Given the description of an element on the screen output the (x, y) to click on. 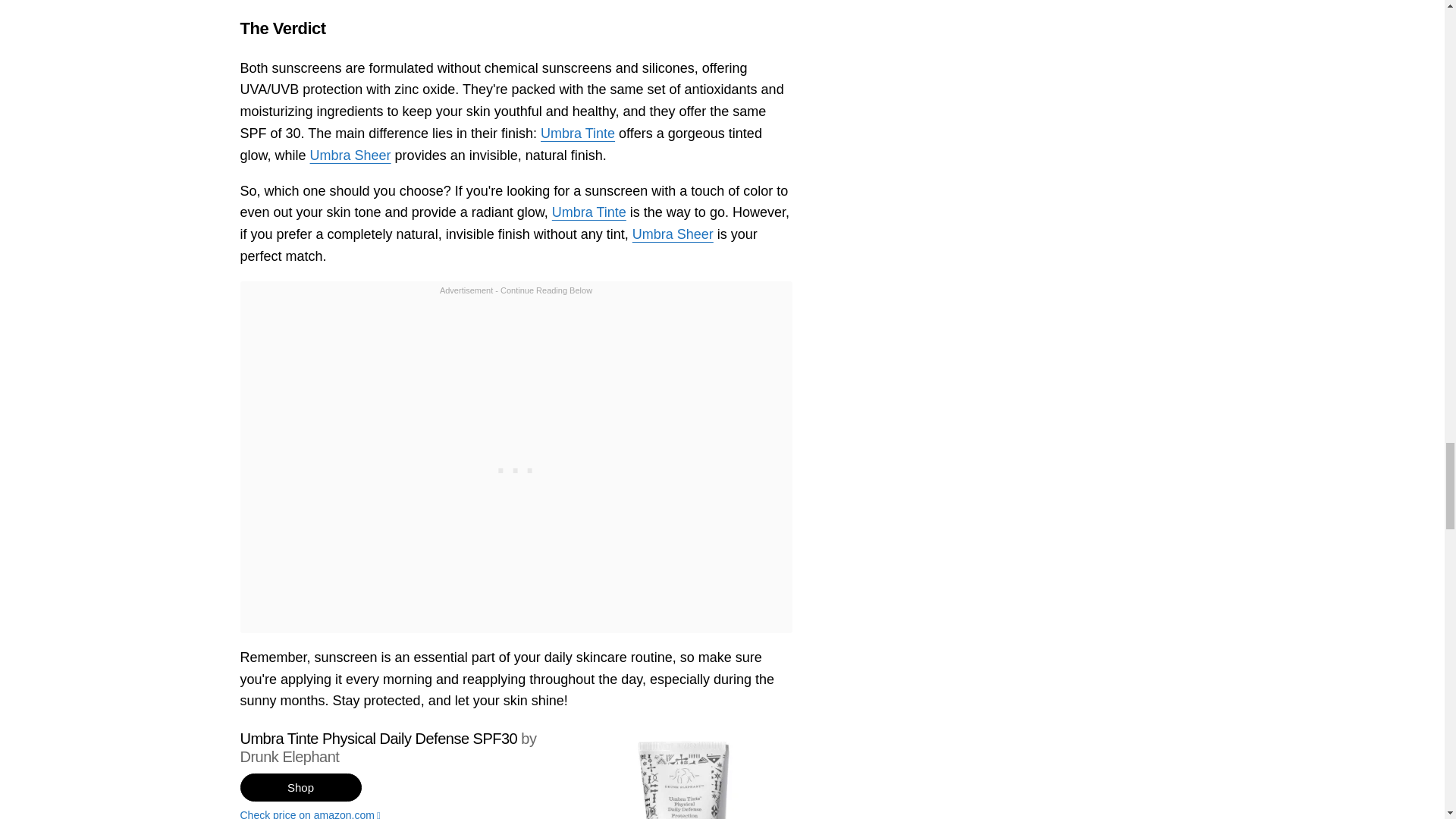
Umbra Tinte (577, 133)
Umbra Sheer (350, 155)
Umbra Tinte (588, 212)
Check price on amazon.com (516, 814)
Umbra Sheer (672, 233)
Shop (300, 787)
